Given the description of an element on the screen output the (x, y) to click on. 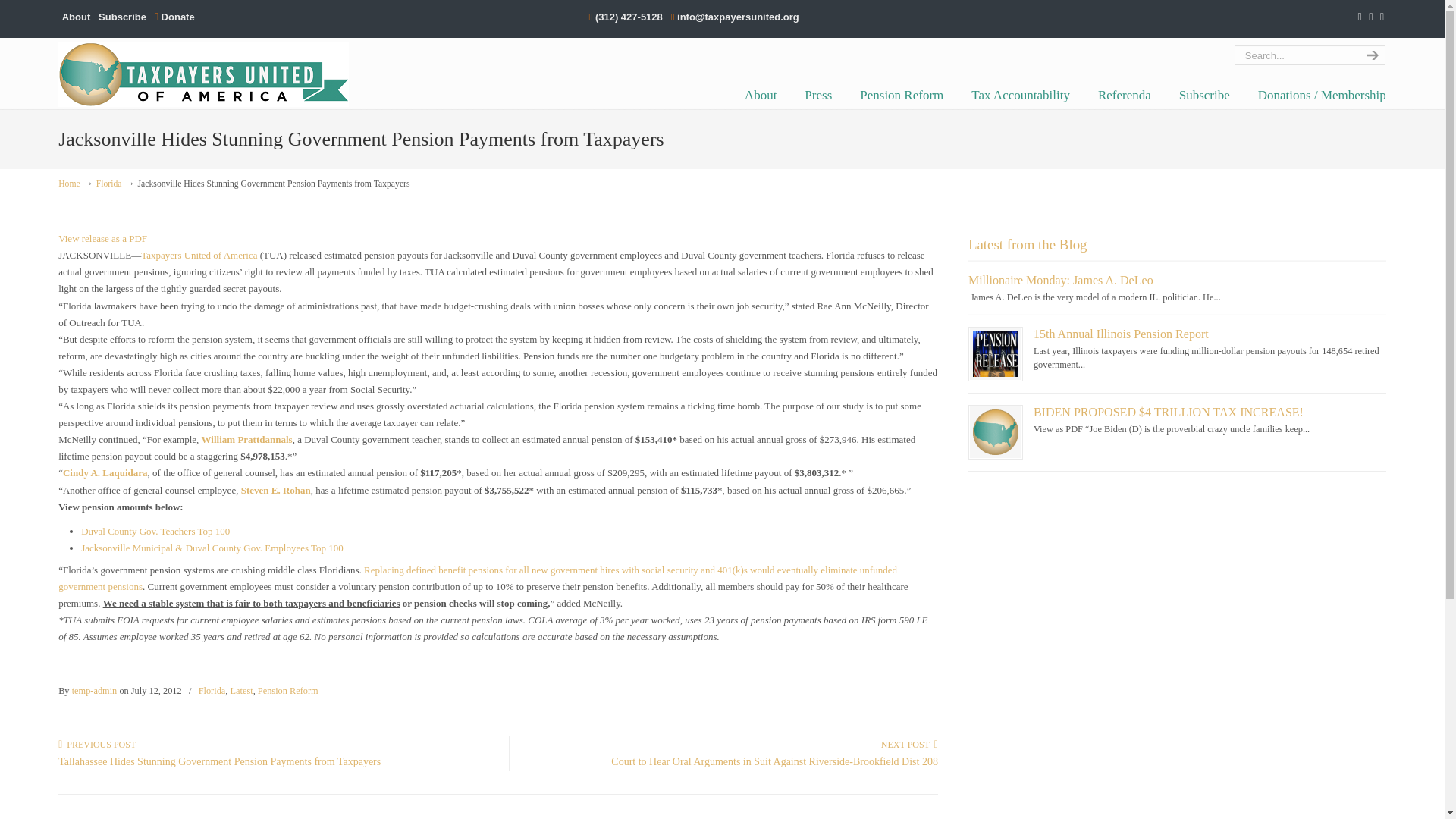
Donate (174, 16)
Twitter (1359, 16)
Go to next post (908, 744)
YouTube (1381, 16)
Referenda (1124, 95)
15th Annual Illinois Pension Report (1120, 333)
Facebook (1370, 16)
Tax Accountability (1020, 95)
Pension Reform (901, 95)
Taxpayers United Of America (203, 74)
search (1370, 55)
Search... (1294, 55)
Home (69, 184)
Press (818, 95)
